Given the description of an element on the screen output the (x, y) to click on. 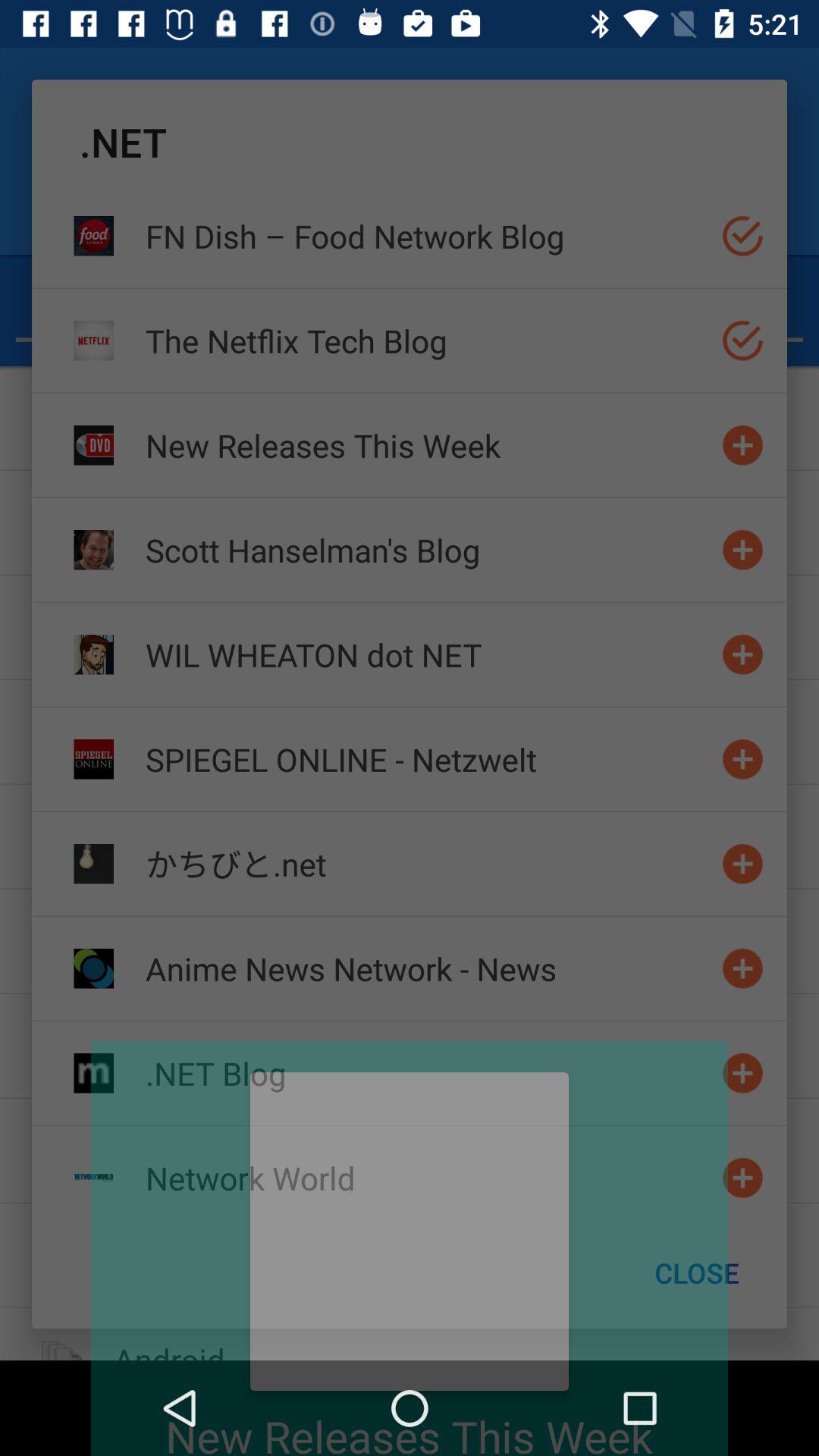
add to the list (742, 654)
